Given the description of an element on the screen output the (x, y) to click on. 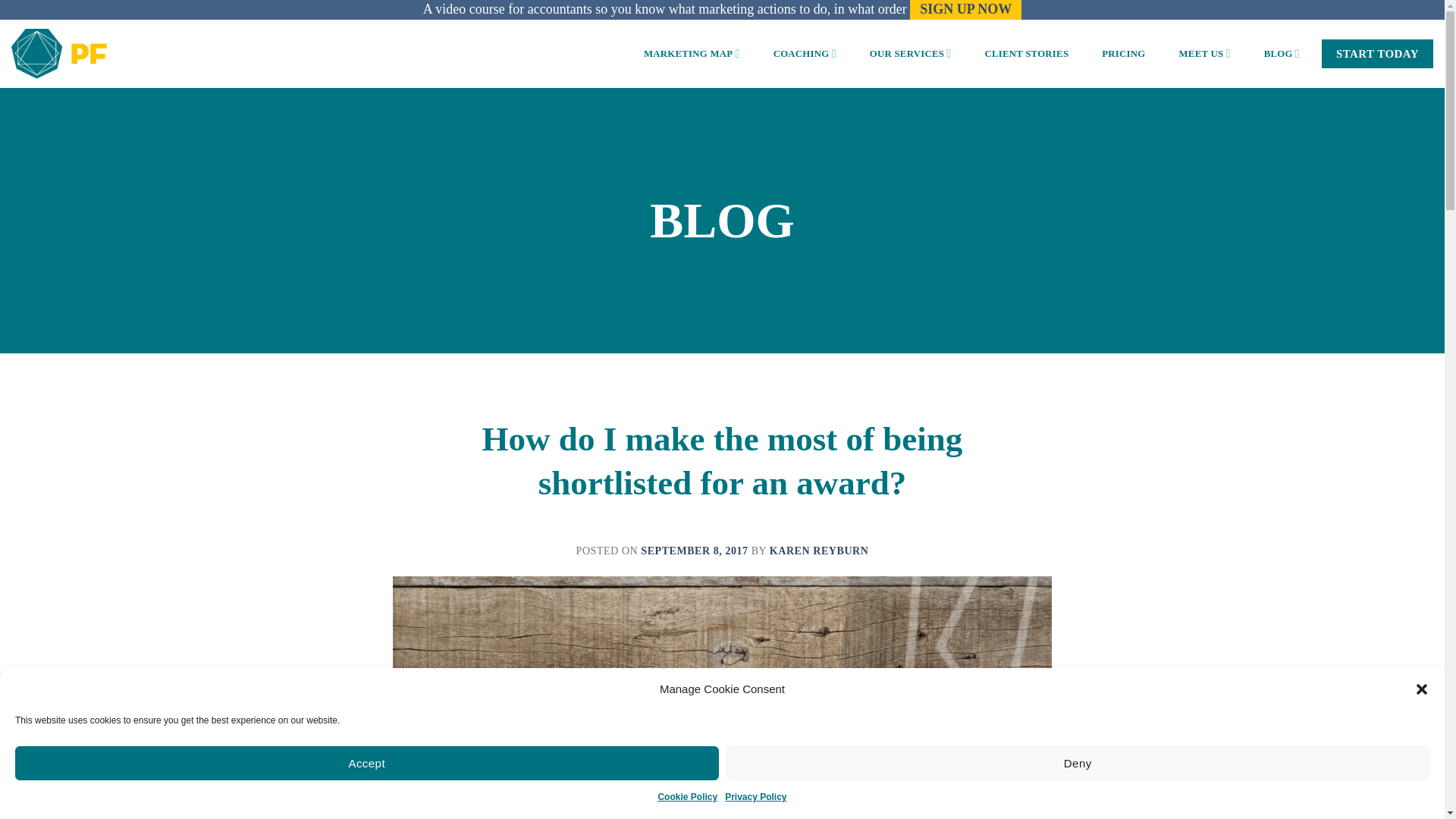
PRICING (1123, 53)
CLIENT STORIES (1026, 53)
SEPTEMBER 8, 2017 (694, 550)
START TODAY (1377, 53)
wearePF (59, 53)
OUR SERVICES (910, 52)
Accept (366, 763)
Cookie Policy (687, 797)
Privacy Policy (755, 797)
MEET US (1204, 52)
SIGN UP NOW (966, 9)
MARKETING MAP (691, 52)
KAREN REYBURN (819, 550)
COACHING (804, 52)
BLOG (1281, 52)
